Given the description of an element on the screen output the (x, y) to click on. 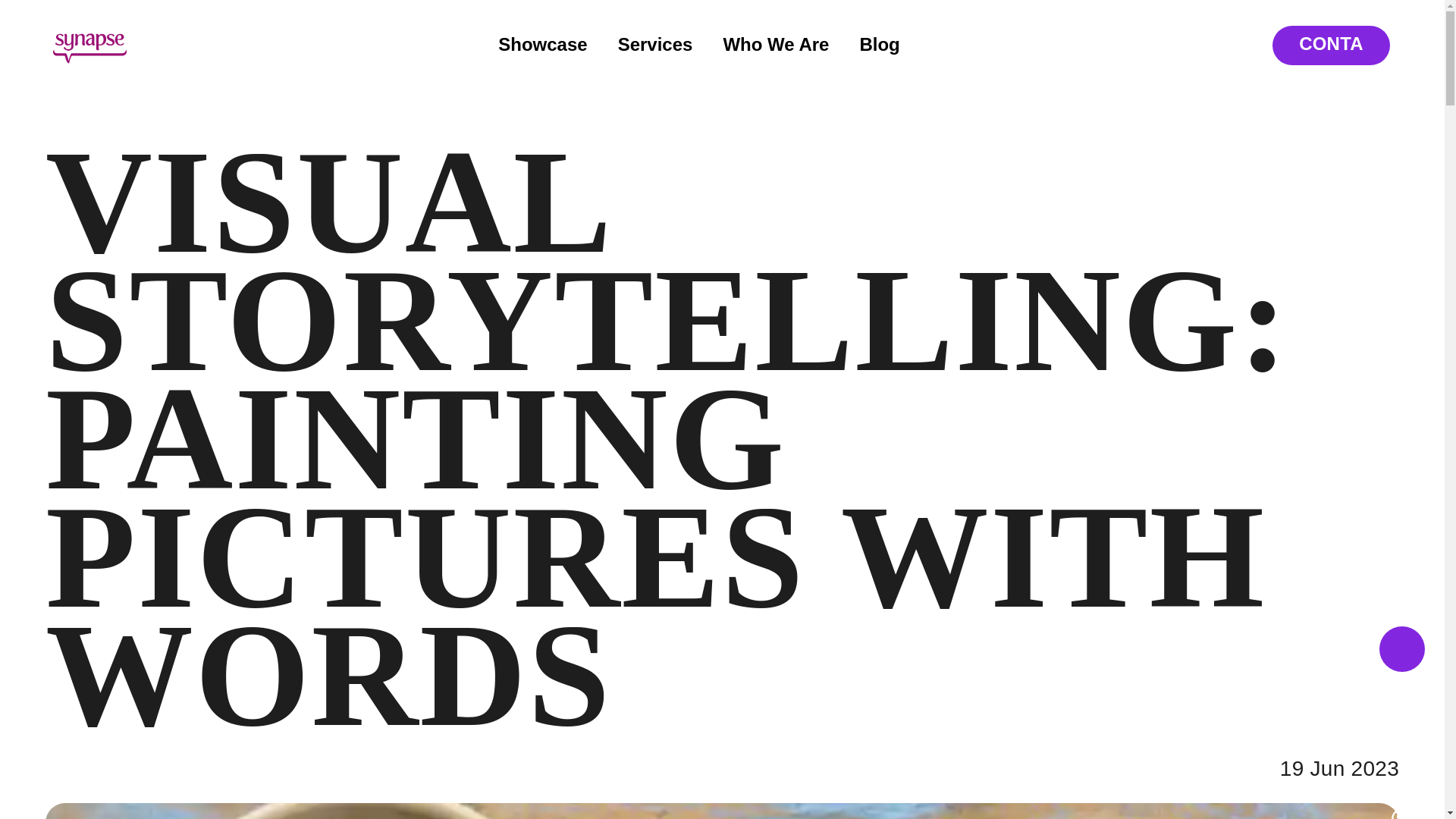
Showcase (541, 44)
Business Communication (577, 559)
CONTACT (1331, 45)
Blog (879, 44)
Content Design (576, 598)
Family Business Communication (579, 638)
Careers (793, 622)
Prototyze (328, 533)
Branding (554, 519)
Privacy Policy (317, 759)
Blog (935, 622)
Services (655, 44)
Who We Are (935, 510)
Synapse Communication Design Pvt Ltd (1008, 758)
Who We Are (775, 44)
